Given the description of an element on the screen output the (x, y) to click on. 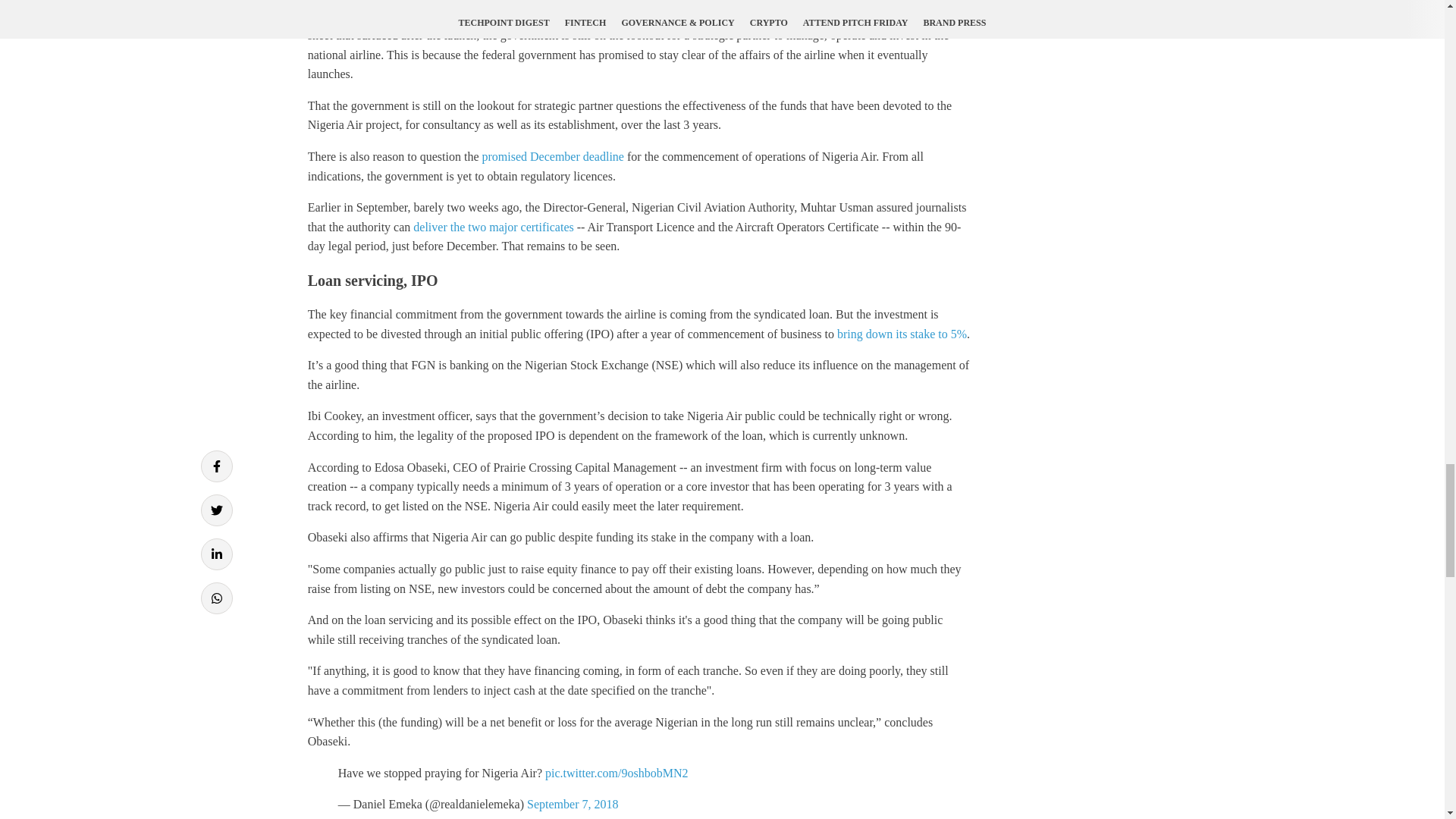
deliver the two major certificates (493, 226)
September 7, 2018 (572, 803)
promised December deadline (552, 155)
